Given the description of an element on the screen output the (x, y) to click on. 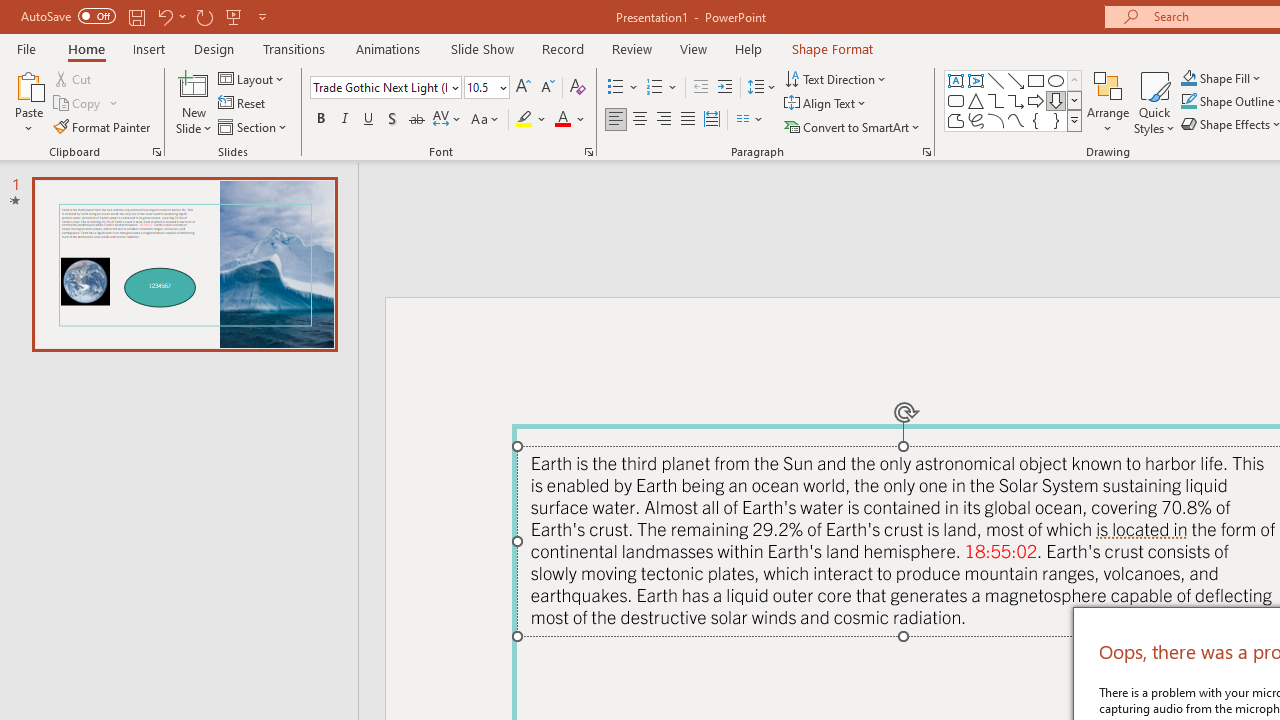
Copy (85, 103)
Office Clipboard... (156, 151)
Redo (204, 15)
Shape Fill Aqua, Accent 2 (1188, 78)
Isosceles Triangle (975, 100)
New Slide (193, 102)
Connector: Elbow Arrow (1016, 100)
Layout (252, 78)
Quick Styles (1154, 102)
Text Box (955, 80)
Review (631, 48)
Font Size (480, 87)
Paste (28, 84)
Vertical Text Box (975, 80)
Arrow: Down (1055, 100)
